Given the description of an element on the screen output the (x, y) to click on. 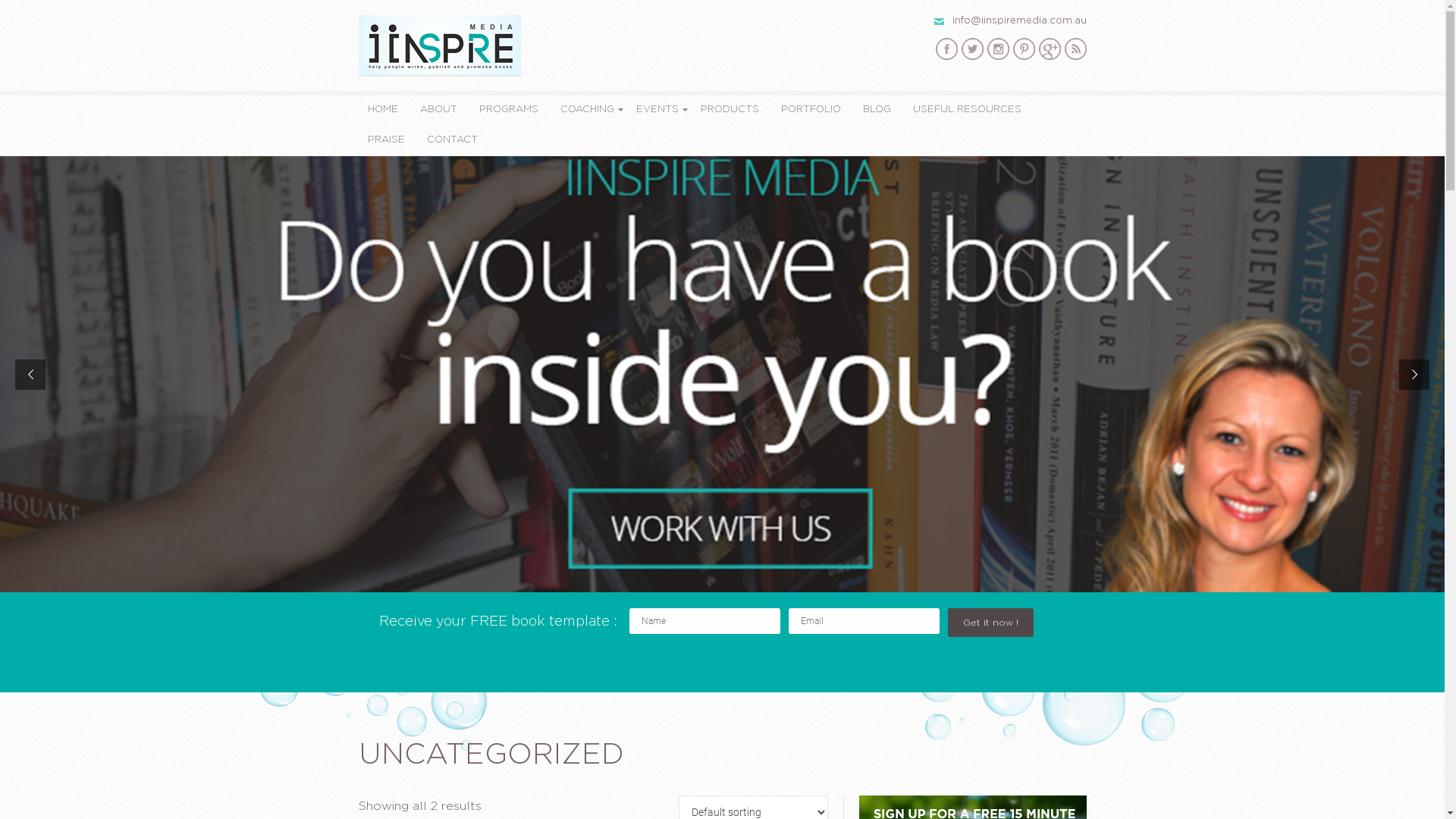
Get it now ! Element type: text (990, 622)
ABOUT Element type: text (438, 109)
BLOG Element type: text (876, 109)
EVENTS Element type: text (656, 109)
PRAISE Element type: text (385, 140)
HOME Element type: text (381, 109)
CONTACT Element type: text (451, 140)
USEFUL RESOURCES Element type: text (966, 109)
PROGRAMS Element type: text (508, 109)
PRODUCTS Element type: text (729, 109)
PORTFOLIO Element type: text (810, 109)
COACHING Element type: text (586, 109)
